Given the description of an element on the screen output the (x, y) to click on. 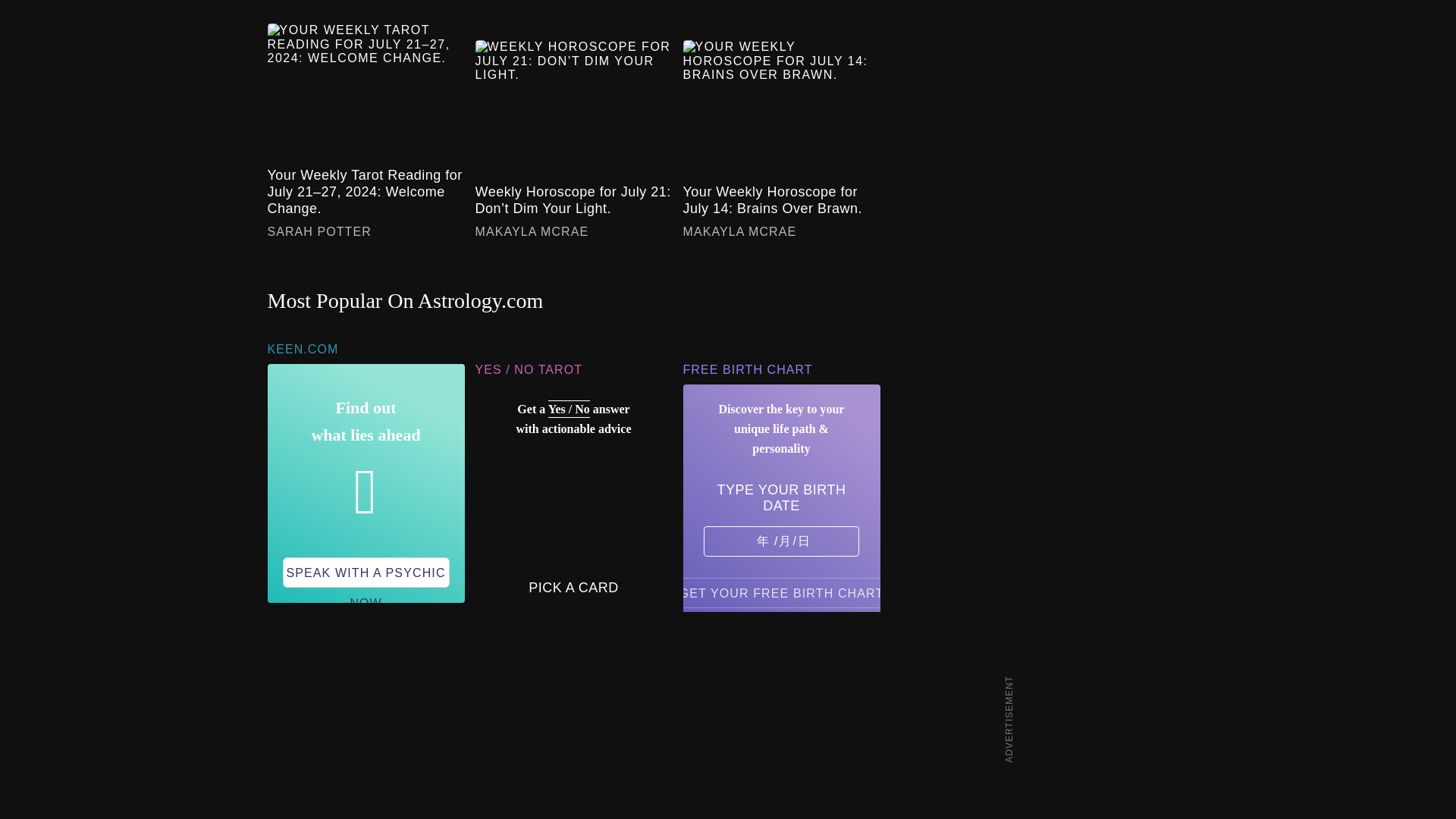
Get your free birth chart (781, 593)
